Given the description of an element on the screen output the (x, y) to click on. 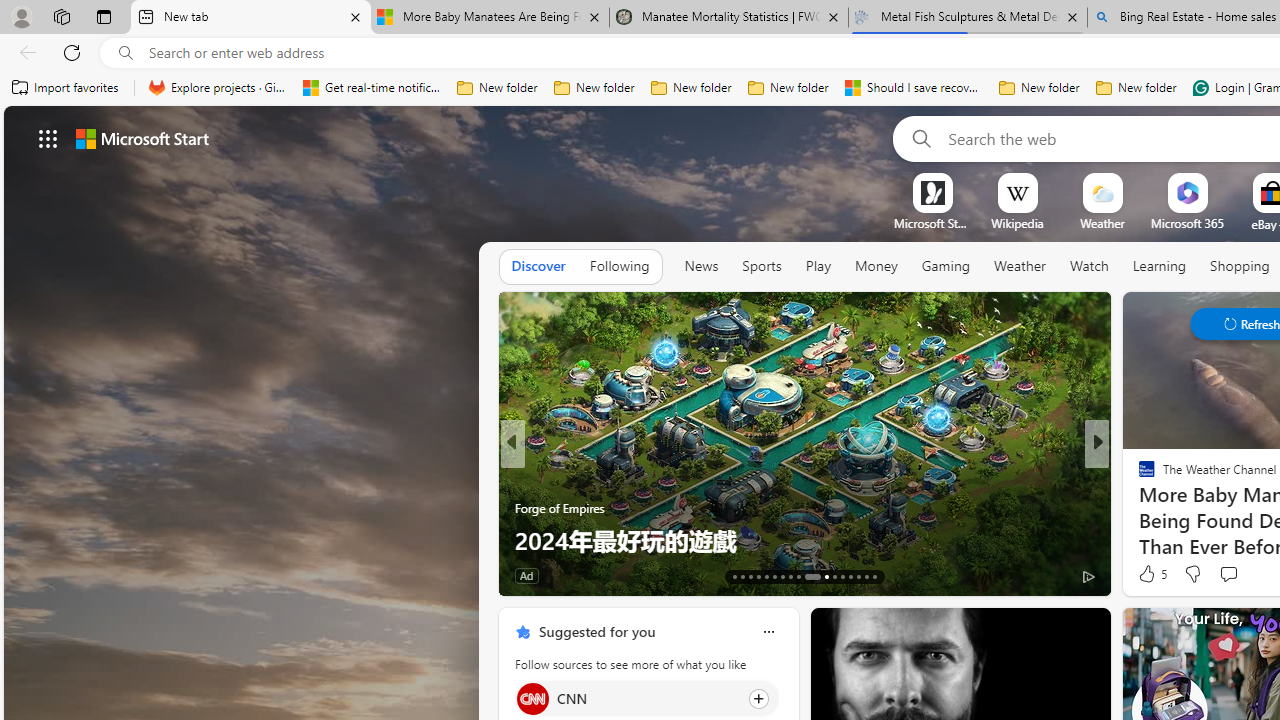
SlashGear (1138, 475)
AutomationID: tab-16 (757, 576)
AutomationID: tab-18 (774, 576)
See more (1086, 632)
The Verge (1138, 475)
AutomationID: tab-22 (806, 576)
AutomationID: tab-21 (797, 576)
17 Like (1149, 574)
New folder (1136, 88)
Forge of Empires (559, 507)
Money (875, 265)
AutomationID: tab-39 (850, 576)
More options (768, 631)
Following (619, 267)
